Given the description of an element on the screen output the (x, y) to click on. 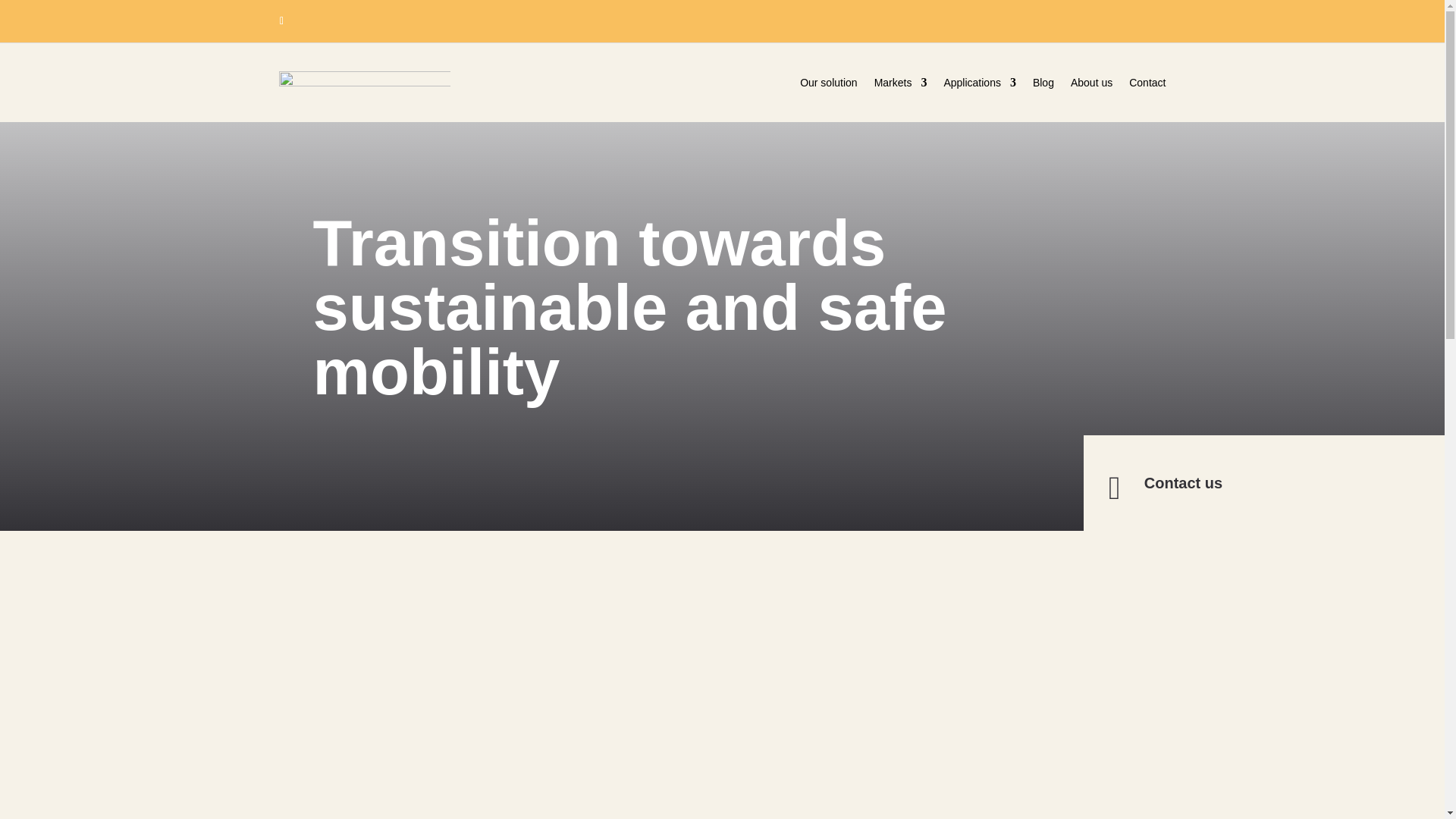
Contact (1147, 85)
Blog (1043, 85)
Our solution (828, 85)
Applications (979, 85)
logo sandgrain (365, 87)
Contact us (1183, 483)
Follow on LinkedIn (281, 20)
About us (1091, 85)
Markets (901, 85)
